Given the description of an element on the screen output the (x, y) to click on. 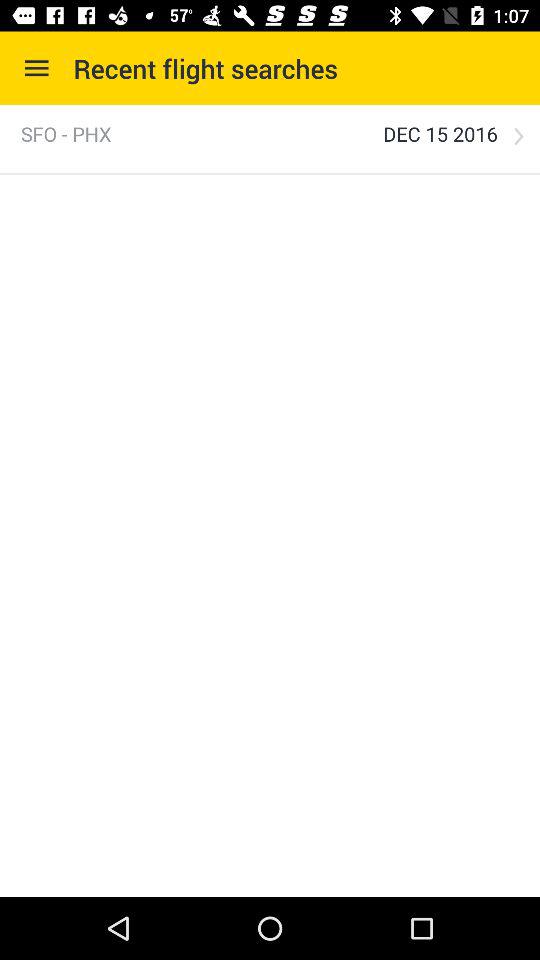
click the icon to the right of dec 15 2016 icon (518, 136)
